Given the description of an element on the screen output the (x, y) to click on. 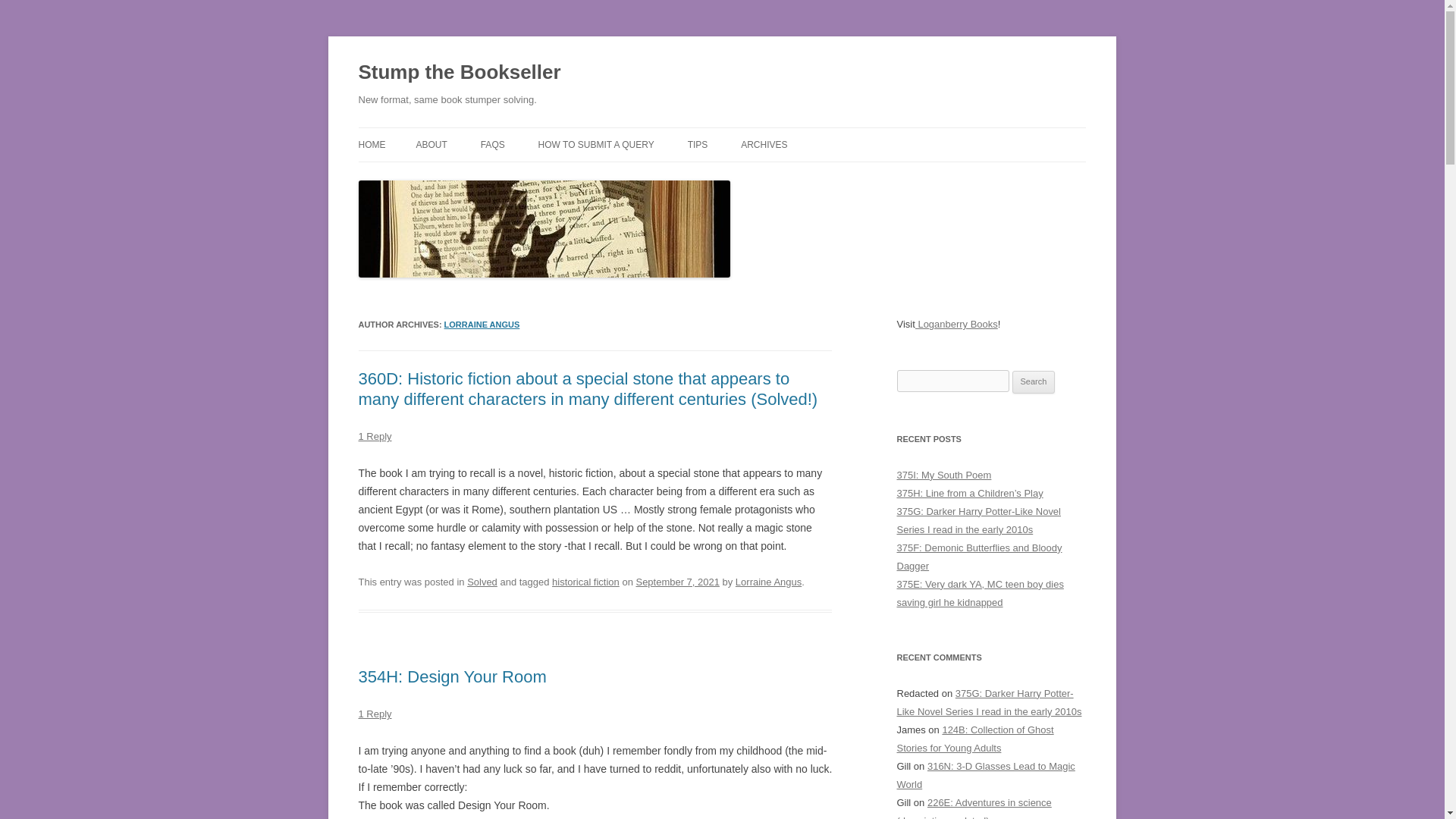
Lorraine Angus (481, 324)
Stump the Bookseller (459, 72)
HOW TO SUBMIT A QUERY (595, 144)
ABOUT (430, 144)
1:19 pm (676, 582)
September 7, 2021 (676, 582)
LORRAINE ANGUS (481, 324)
1 Reply (374, 713)
Search (1033, 382)
Solved (482, 582)
historical fiction (585, 582)
ARCHIVES (764, 144)
Lorraine Angus (768, 582)
